Given the description of an element on the screen output the (x, y) to click on. 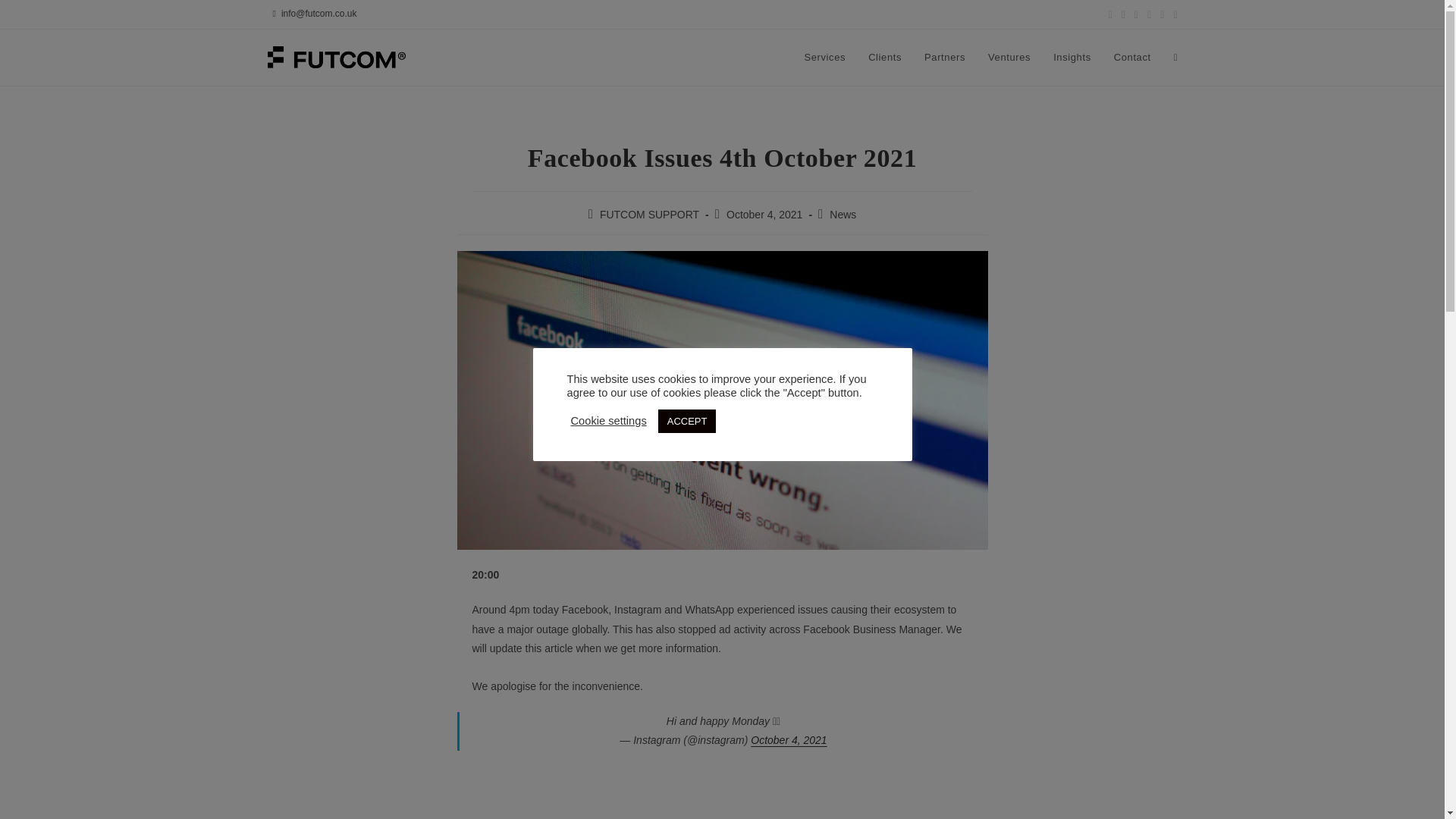
News (842, 214)
Ventures (1009, 57)
FUTCOM SUPPORT (648, 214)
Contact (1131, 57)
October 4, 2021 (789, 739)
Services (824, 57)
Partners (944, 57)
Posts by FUTCOM SUPPORT (648, 214)
Clients (884, 57)
Insights (1072, 57)
